Given the description of an element on the screen output the (x, y) to click on. 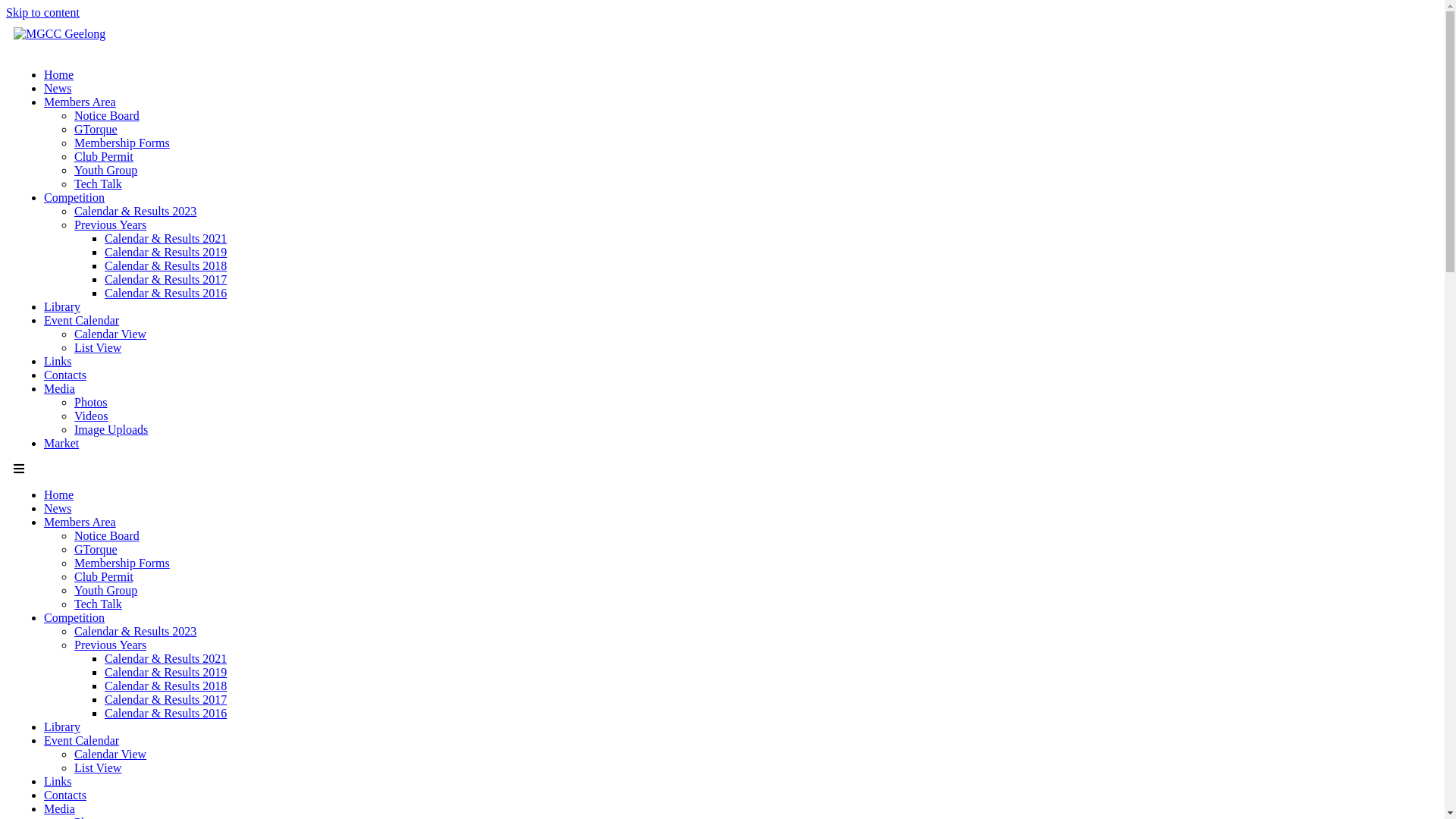
Previous Years Element type: text (110, 224)
News Element type: text (57, 508)
Event Calendar Element type: text (81, 319)
List View Element type: text (97, 347)
Calendar & Results 2016 Element type: text (165, 292)
Members Area Element type: text (79, 101)
Calendar & Results 2019 Element type: text (165, 251)
Image Uploads Element type: text (110, 429)
Notice Board Element type: text (106, 115)
Calendar View Element type: text (110, 333)
Contacts Element type: text (64, 374)
Media Element type: text (59, 388)
Calendar & Results 2017 Element type: text (165, 699)
Calendar & Results 2021 Element type: text (165, 658)
Videos Element type: text (90, 415)
Calendar & Results 2023 Element type: text (135, 630)
Photos Element type: text (90, 401)
Library Element type: text (61, 306)
Members Area Element type: text (79, 521)
Calendar & Results 2018 Element type: text (165, 685)
Membership Forms Element type: text (121, 142)
Home Element type: text (58, 74)
Skip to content Element type: text (42, 12)
Tech Talk Element type: text (98, 603)
Calendar & Results 2016 Element type: text (165, 712)
Library Element type: text (61, 726)
GTorque Element type: text (95, 548)
Calendar & Results 2023 Element type: text (135, 210)
List View Element type: text (97, 767)
Competition Element type: text (73, 617)
Market Element type: text (60, 442)
Calendar & Results 2019 Element type: text (165, 671)
Youth Group Element type: text (105, 589)
Youth Group Element type: text (105, 169)
Links Element type: text (57, 360)
Tech Talk Element type: text (98, 183)
Event Calendar Element type: text (81, 740)
Home Element type: text (58, 494)
Links Element type: text (57, 781)
Membership Forms Element type: text (121, 562)
Club Permit Element type: text (103, 156)
Contacts Element type: text (64, 794)
Competition Element type: text (73, 197)
Previous Years Element type: text (110, 644)
Calendar & Results 2021 Element type: text (165, 238)
Club Permit Element type: text (103, 576)
Notice Board Element type: text (106, 535)
Calendar View Element type: text (110, 753)
GTorque Element type: text (95, 128)
Media Element type: text (59, 808)
Calendar & Results 2017 Element type: text (165, 279)
News Element type: text (57, 87)
Calendar & Results 2018 Element type: text (165, 265)
